Given the description of an element on the screen output the (x, y) to click on. 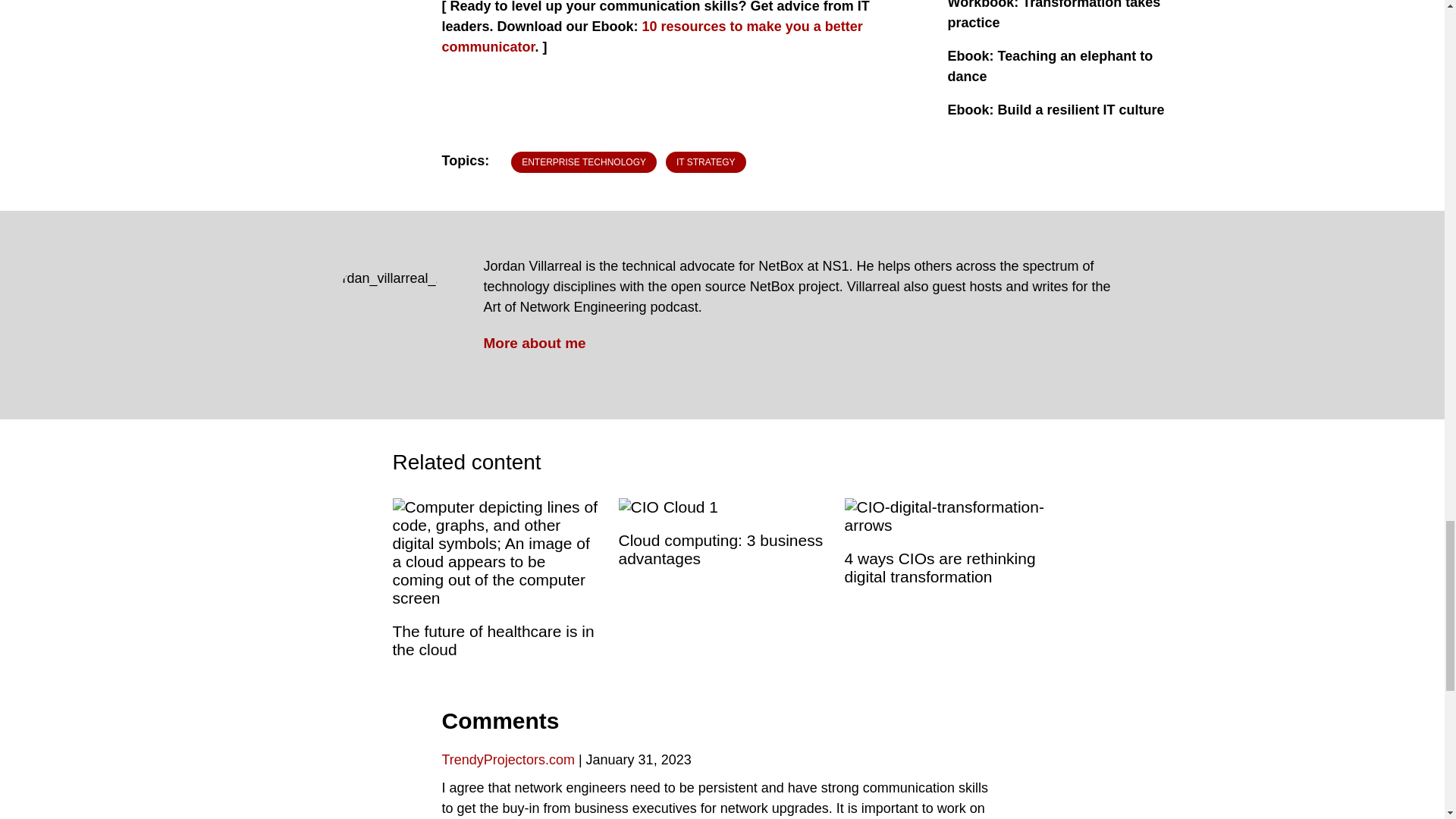
CIO Cloud 2 (668, 506)
